Given the description of an element on the screen output the (x, y) to click on. 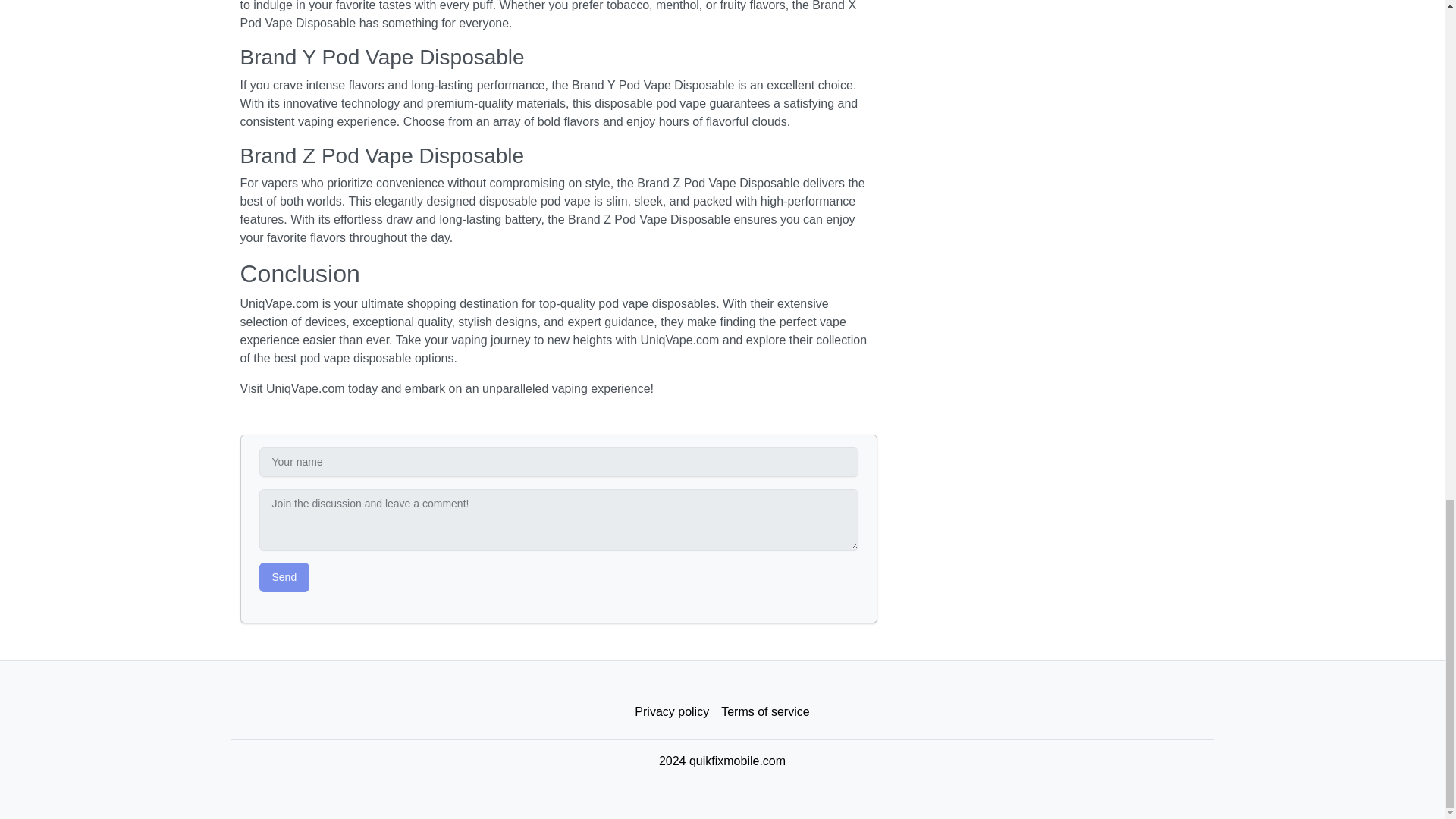
Send (284, 577)
Privacy policy (671, 711)
Terms of service (764, 711)
Send (284, 577)
